Given the description of an element on the screen output the (x, y) to click on. 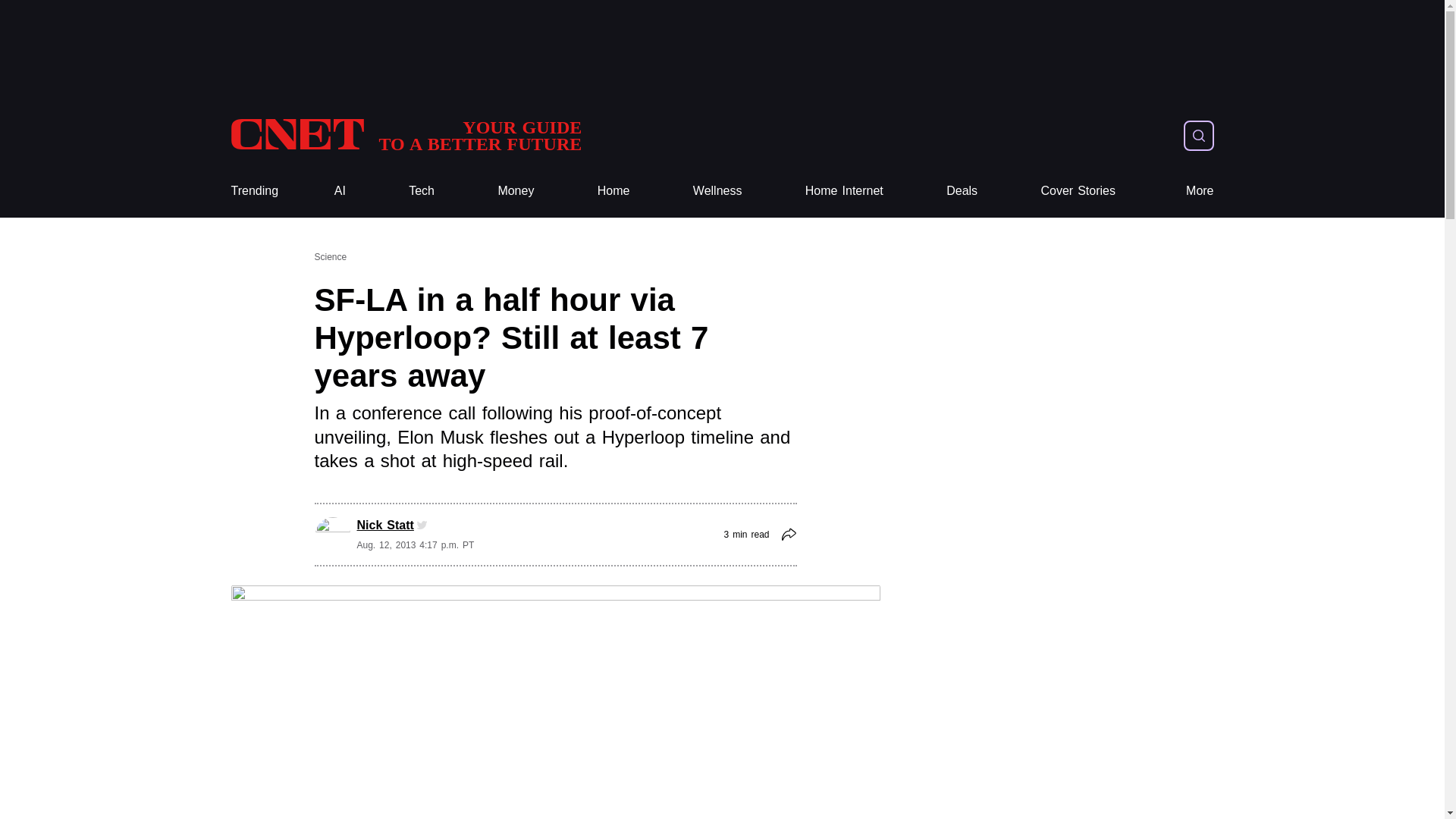
Cover Stories (1078, 190)
Tech (421, 190)
Home (613, 190)
Trending (254, 190)
Money (515, 190)
Deals (961, 190)
Home (613, 190)
Wellness (717, 190)
Home Internet (844, 190)
Trending (254, 190)
